Given the description of an element on the screen output the (x, y) to click on. 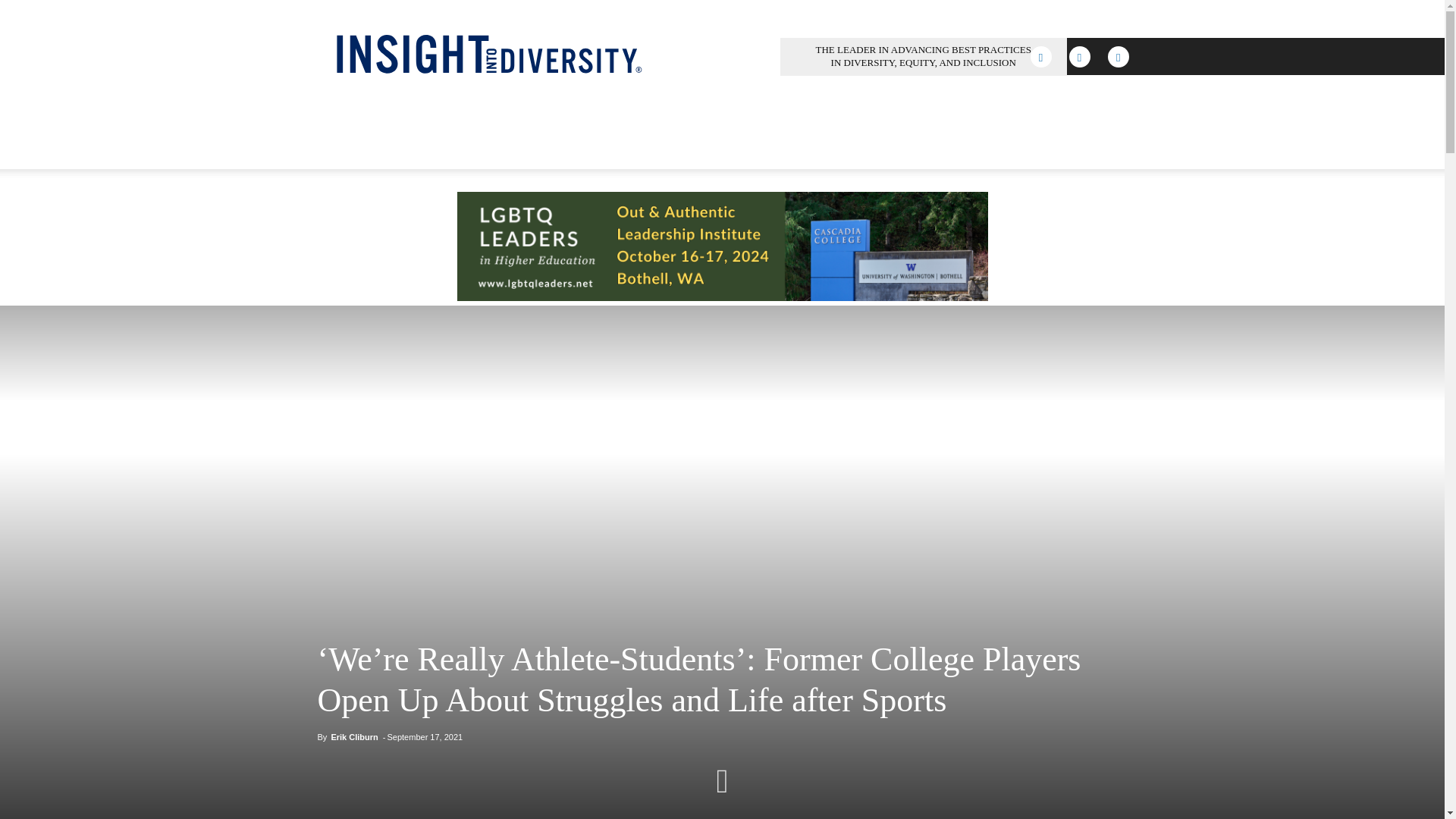
Facebook (1040, 56)
Twitter (1118, 56)
Linkedin (1079, 56)
